Given the description of an element on the screen output the (x, y) to click on. 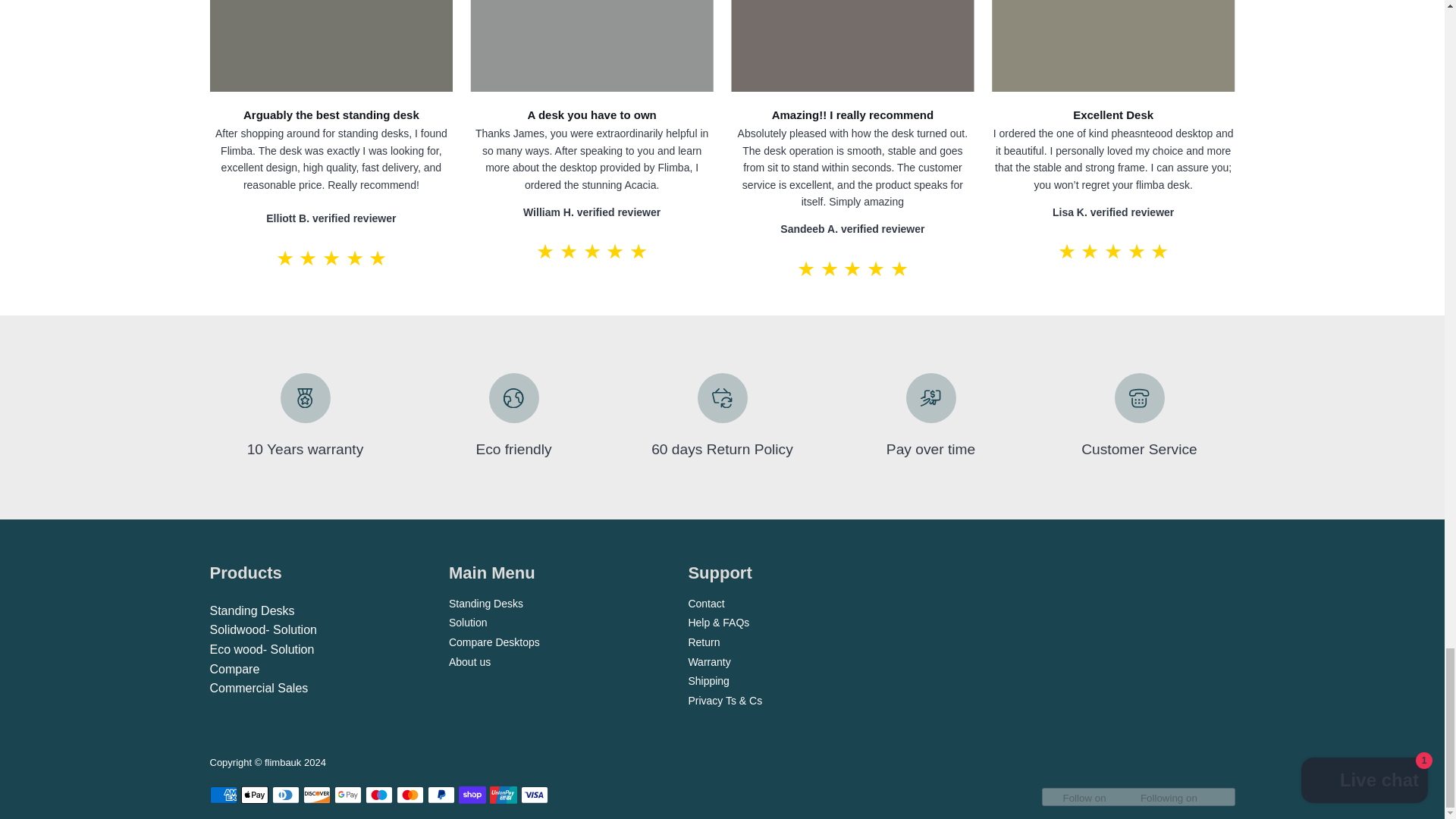
Standing Desk (251, 610)
Eco-wood- Solution (261, 649)
Solidwood- Solution (262, 629)
